Given the description of an element on the screen output the (x, y) to click on. 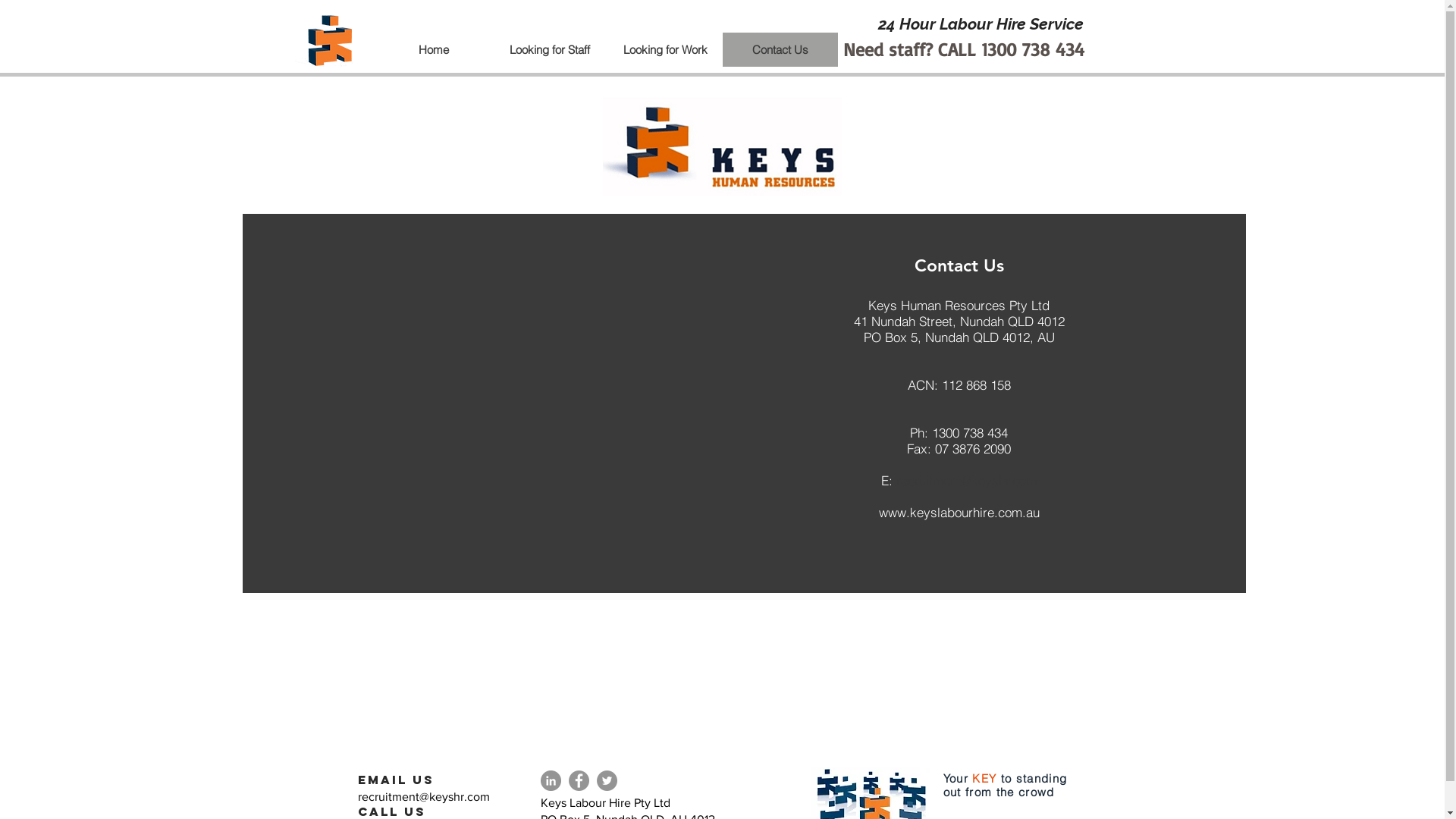
recruitment@keyshr.com Element type: text (423, 796)
recruitment@keyshr.com Element type: text (966, 480)
24 Hour Labour Hire Service Element type: text (977, 23)
Looking for Work Element type: text (663, 49)
E: Element type: text (920, 488)
Need staff? CALL 1300 738 434 Element type: text (963, 49)
Contact Us Element type: text (779, 49)
Ph: 1300 738 434 Element type: text (958, 432)
Looking for Staff Element type: text (548, 49)
Home Element type: text (434, 49)
www.keyslabourhire.com.au Element type: text (958, 512)
Google Maps Element type: hover (591, 385)
